Given the description of an element on the screen output the (x, y) to click on. 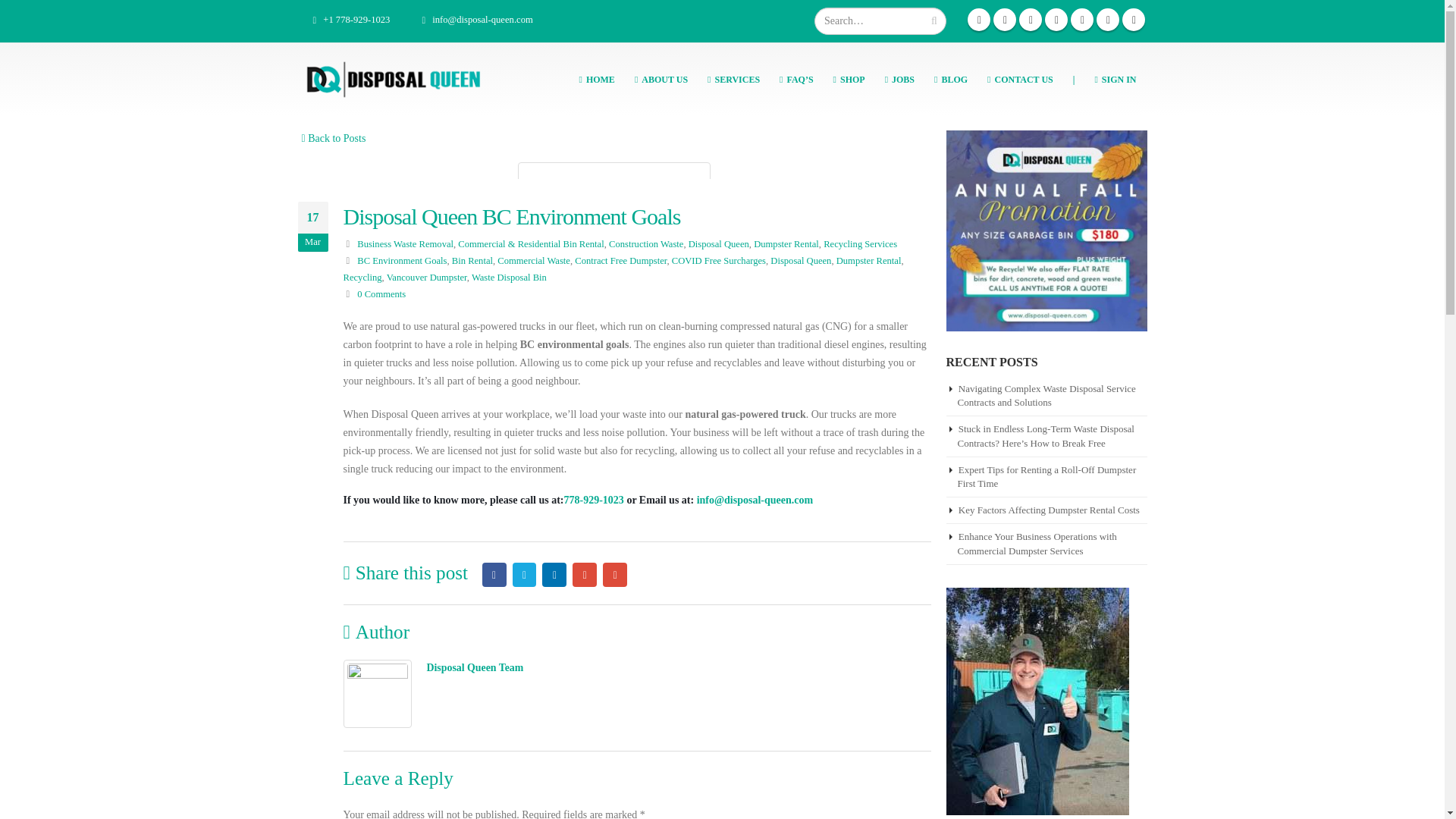
Recycling Services (860, 244)
SIGN IN (1114, 79)
BLOG (950, 79)
Bin Rental (472, 260)
SHOP (849, 79)
ABOUT US (661, 79)
JOBS (899, 79)
Dumpster Rental (786, 244)
Facebook (979, 19)
Pinterest (1030, 19)
CONTACT US (1020, 79)
Tumblr (1133, 19)
Recycling (361, 276)
0 Comments (381, 294)
Business Waste Removal (404, 244)
